Given the description of an element on the screen output the (x, y) to click on. 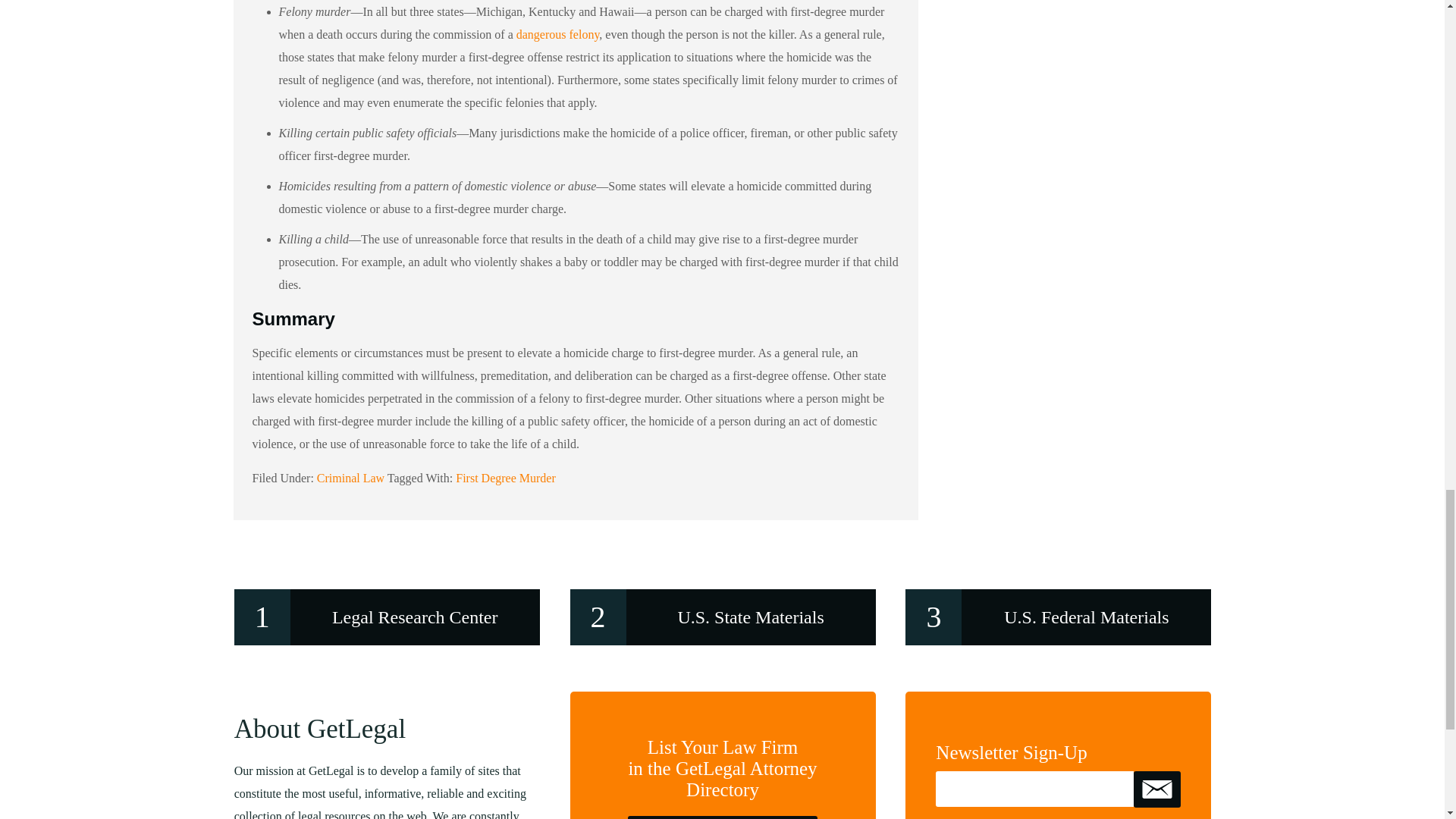
Criminal Law (350, 477)
First Degree Murder (505, 477)
Legal Research Center (387, 616)
dangerous felony (557, 33)
Subscribe! (1157, 789)
